Given the description of an element on the screen output the (x, y) to click on. 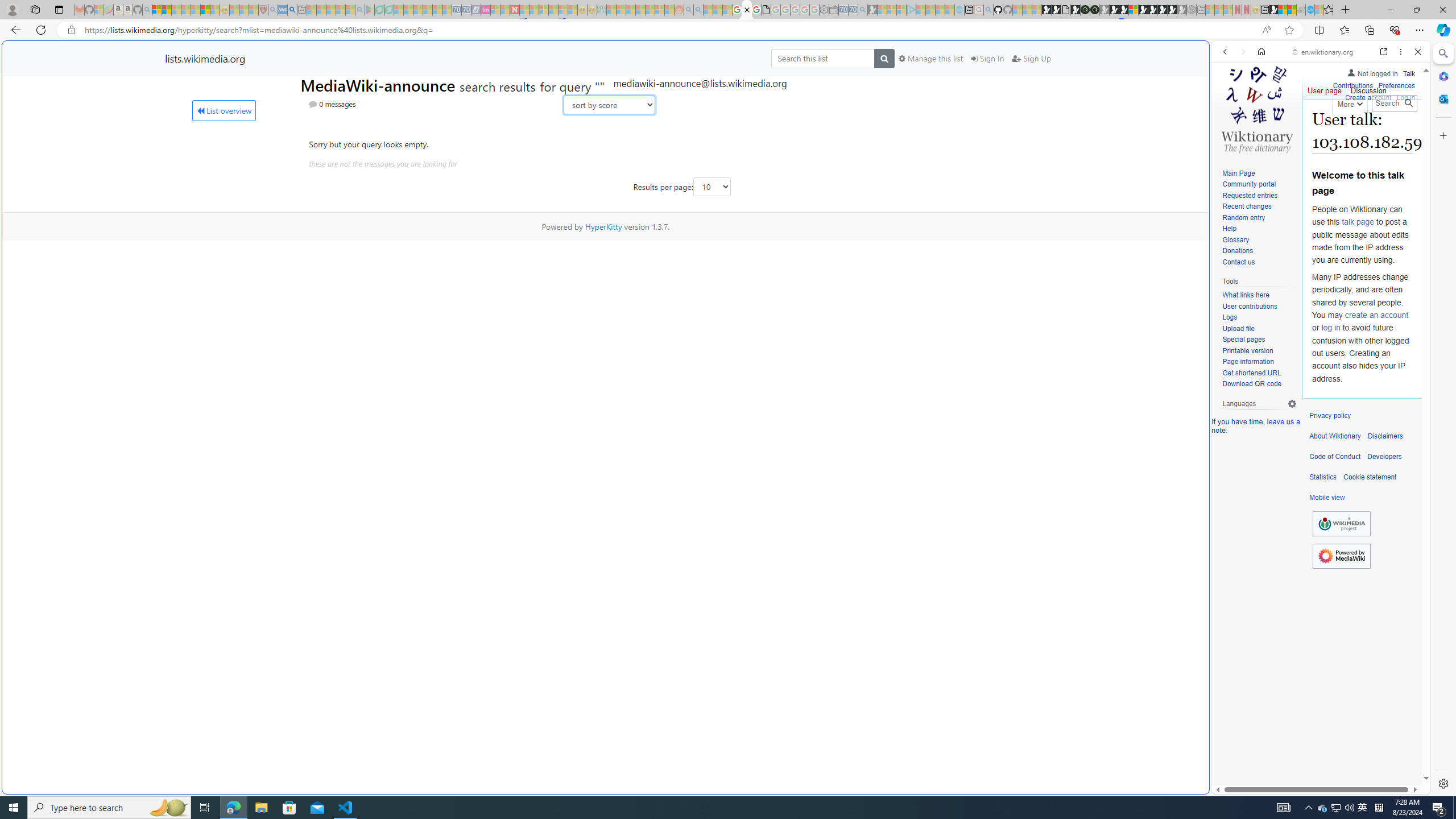
Logs (1229, 317)
Page information (1259, 361)
Printable version (1259, 351)
What links here (1245, 295)
Upload file (1238, 328)
